Given the description of an element on the screen output the (x, y) to click on. 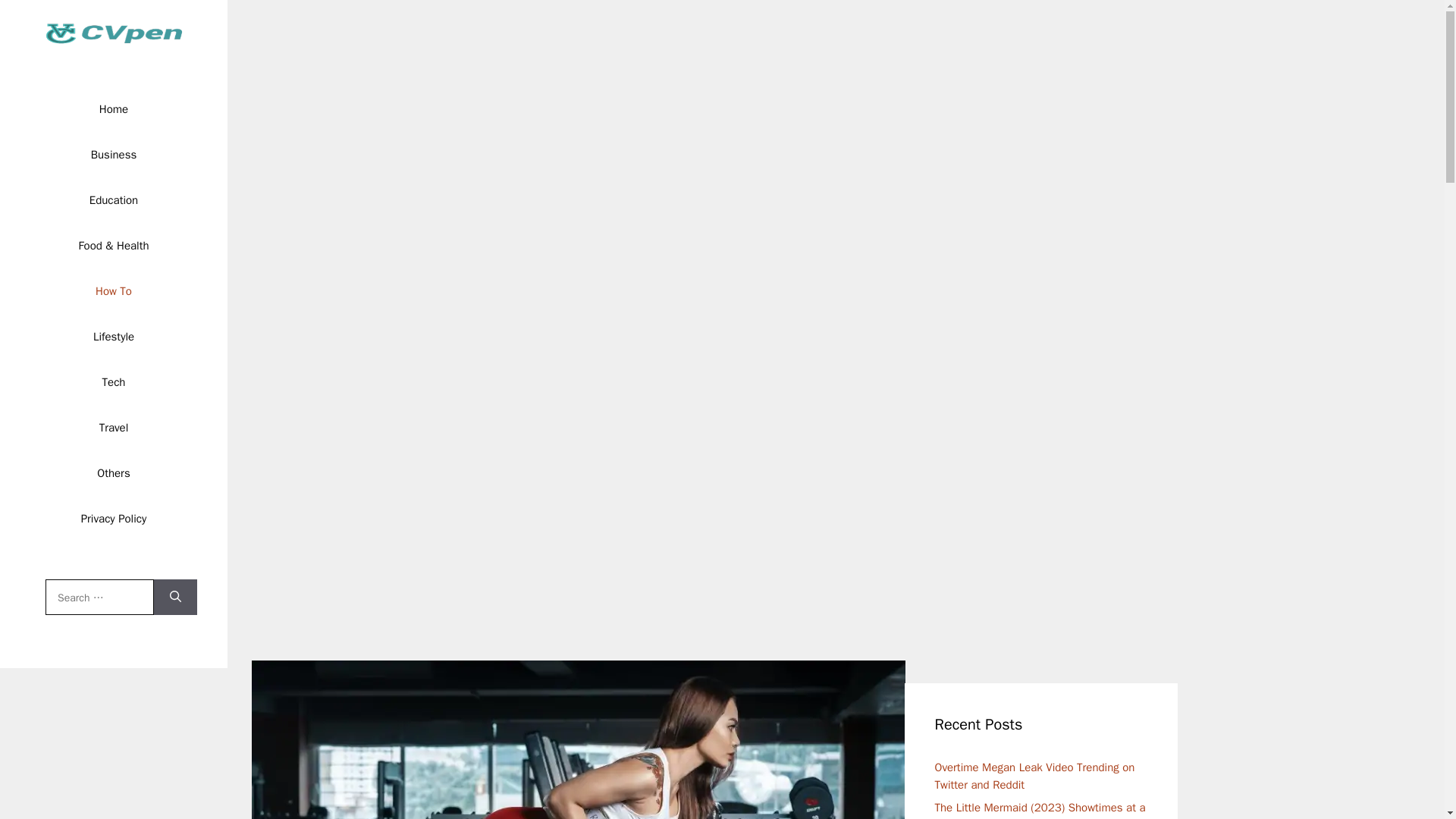
Overtime Megan Leak Video Trending on Twitter and Reddit (1034, 775)
Others (112, 473)
Privacy Policy (113, 518)
Education (113, 199)
Lifestyle (113, 336)
Travel (114, 427)
Search for: (99, 597)
How To (113, 290)
Business (113, 154)
Home (113, 108)
